Given the description of an element on the screen output the (x, y) to click on. 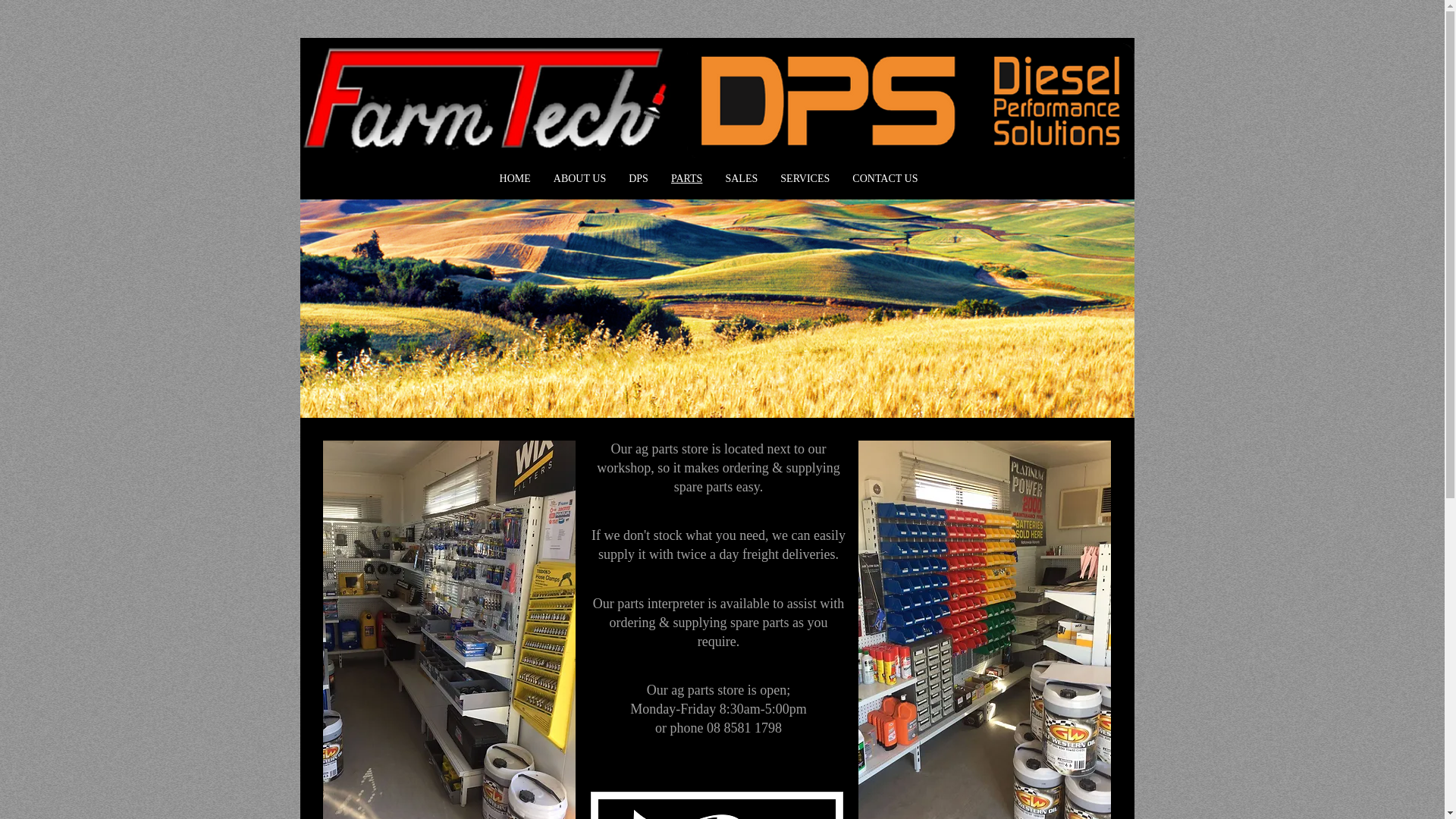
SERVICES Element type: text (804, 178)
PARTS Element type: text (686, 178)
HOME Element type: text (515, 178)
SALES Element type: text (740, 178)
DPS Element type: text (638, 178)
CONTACT US Element type: text (884, 178)
ABOUT US Element type: text (579, 178)
